Given the description of an element on the screen output the (x, y) to click on. 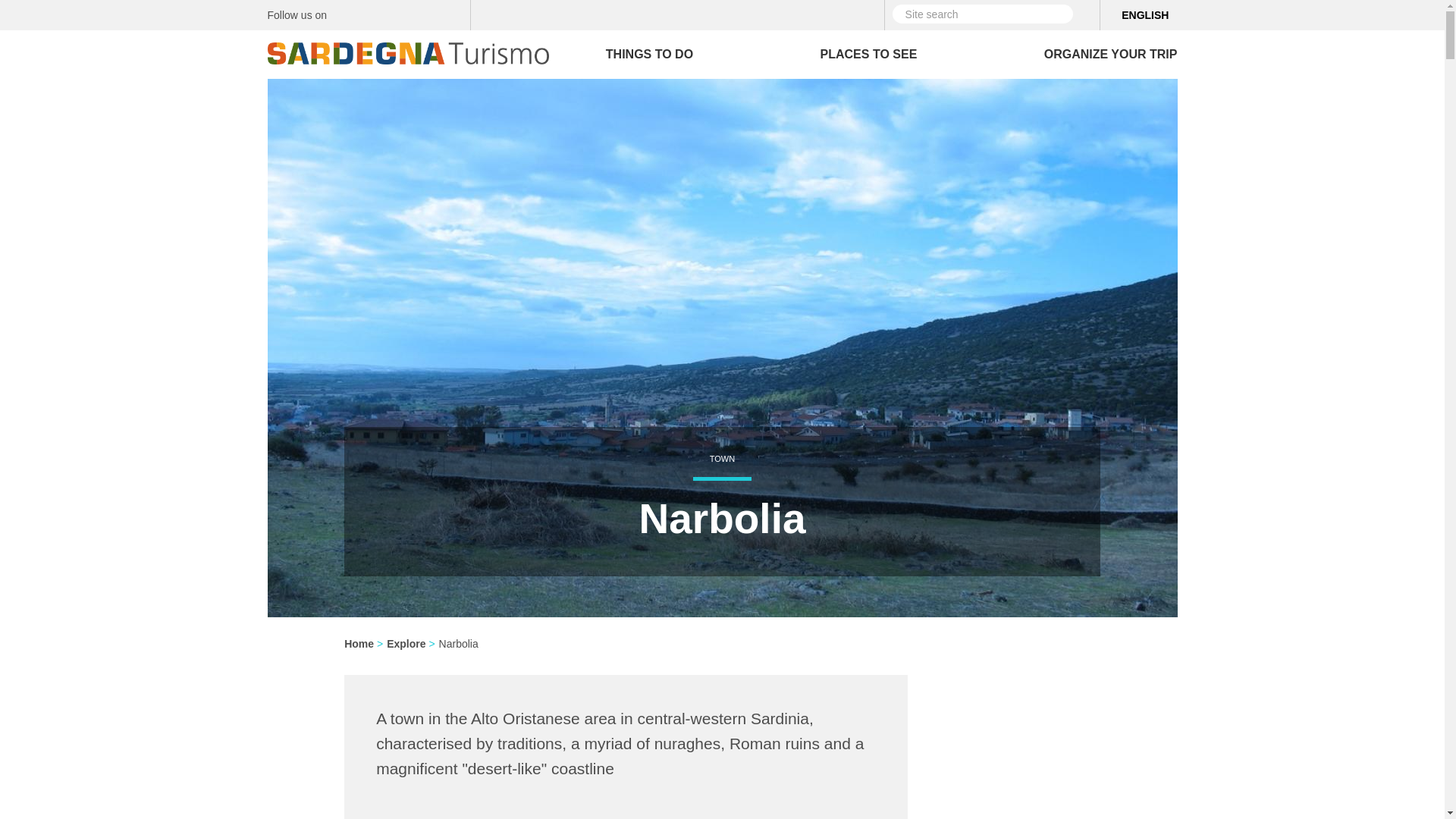
Home (413, 47)
Youtube (453, 14)
Home (407, 53)
Twitter (373, 14)
Flickr (425, 14)
PLACES TO SEE (869, 54)
THINGS TO DO (649, 54)
Applica (1084, 13)
ORGANIZE YOUR TRIP (1110, 54)
